Given the description of an element on the screen output the (x, y) to click on. 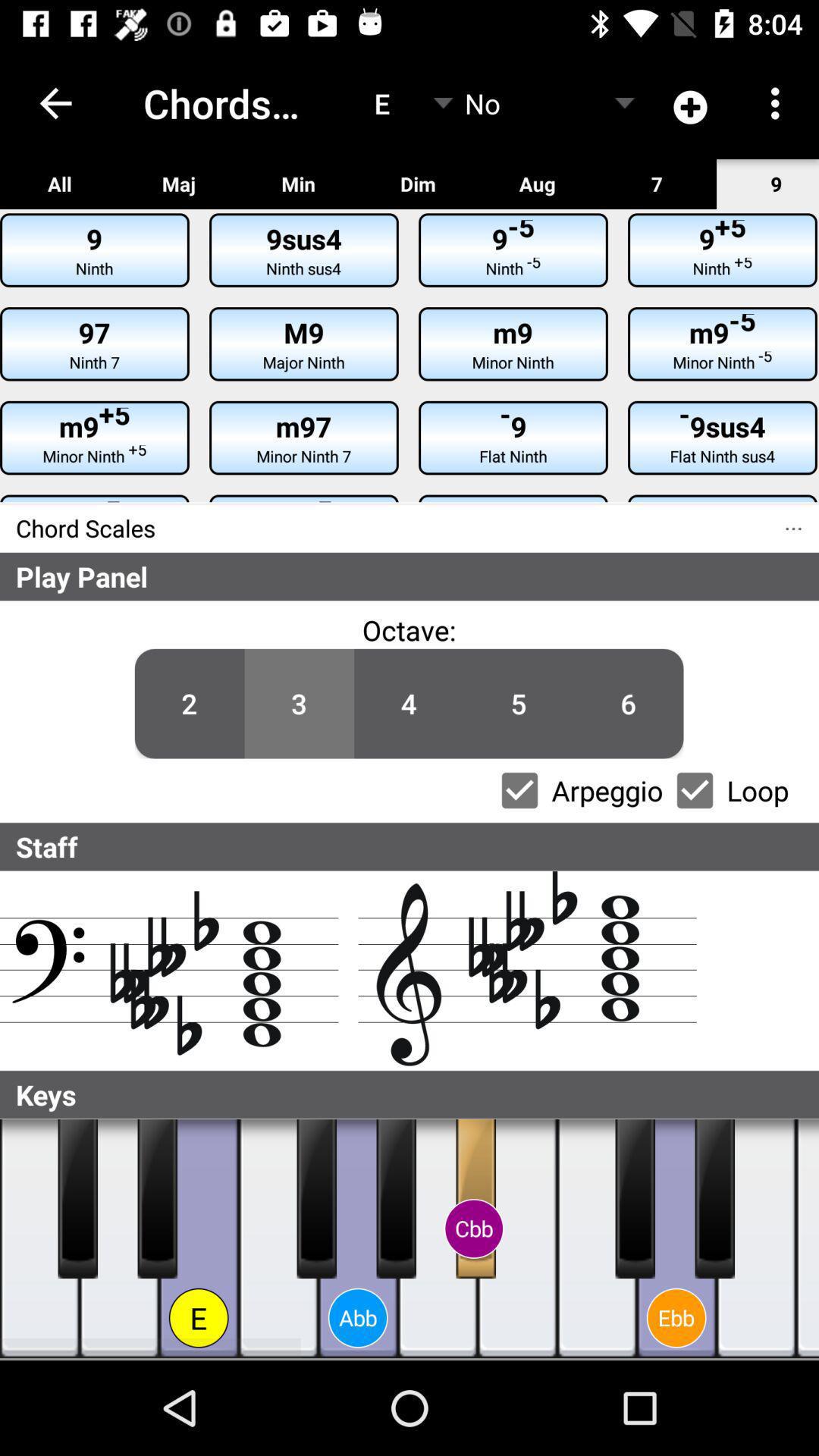
flip to the cbb (473, 1228)
